Given the description of an element on the screen output the (x, y) to click on. 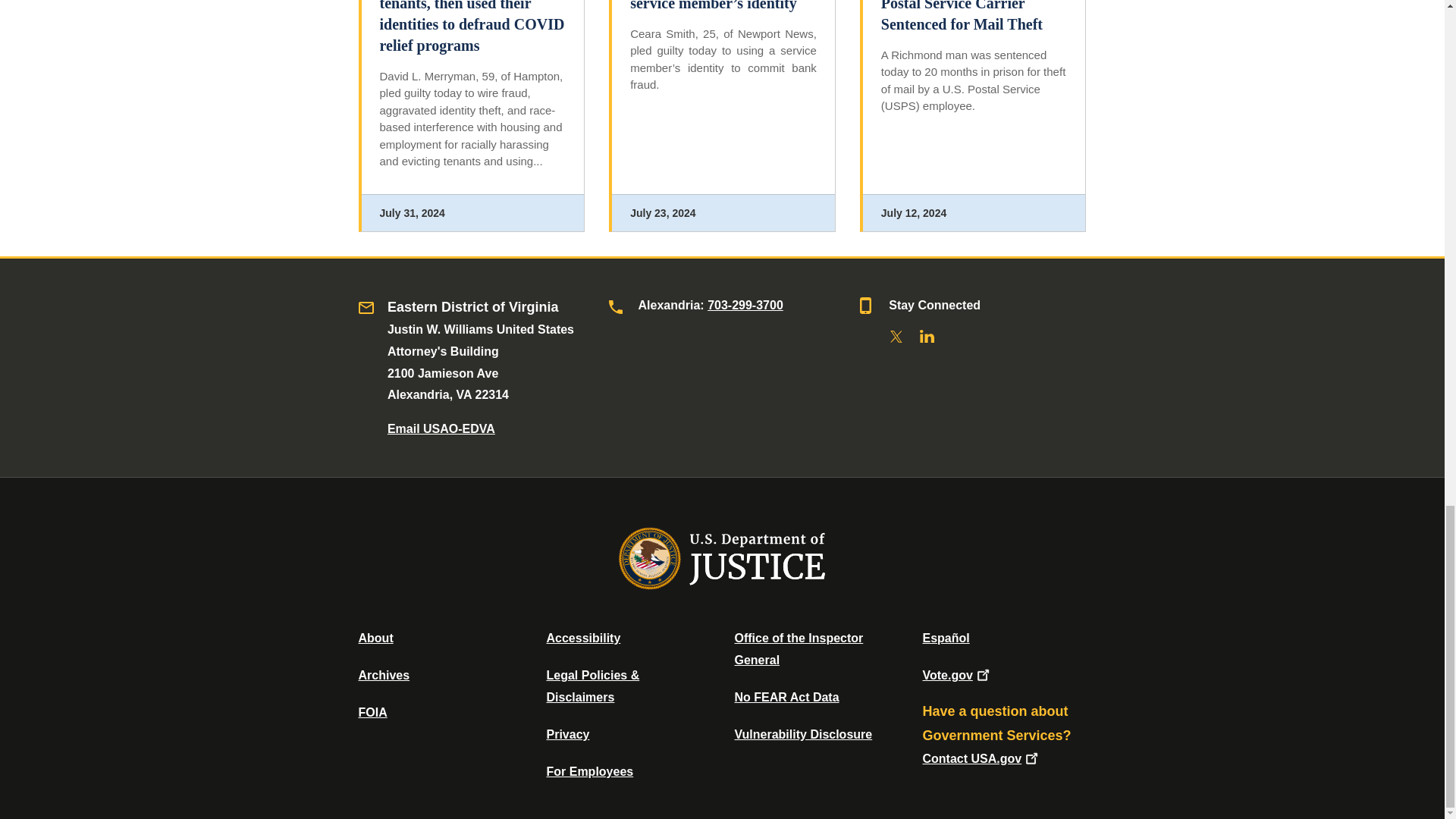
Accessibility Statement (583, 637)
Data Posted Pursuant To The No Fear Act (785, 697)
Department of Justice Archive (383, 675)
Office of Information Policy (372, 712)
About DOJ (375, 637)
For Employees (589, 771)
Legal Policies and Disclaimers (592, 686)
